Given the description of an element on the screen output the (x, y) to click on. 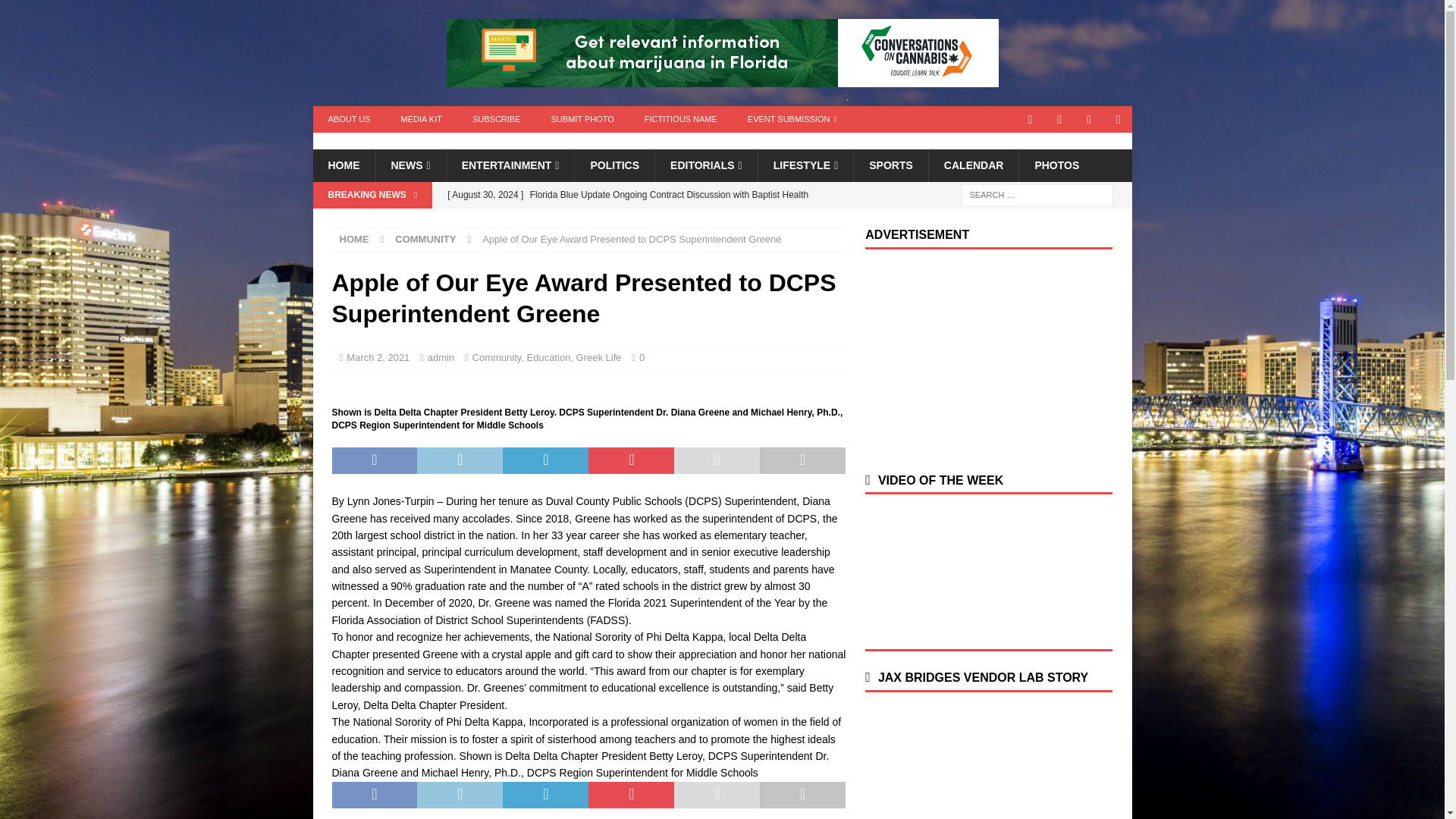
SUBSCRIBE (496, 119)
Free Press of Jacksonville (380, 141)
rss (1118, 119)
EVENT SUBMISSION (791, 119)
SUBMIT PHOTO (581, 119)
Facebook (1088, 119)
MEDIA KIT (421, 119)
contact (1029, 119)
ABOUT US (349, 119)
twitter (1059, 119)
